Given the description of an element on the screen output the (x, y) to click on. 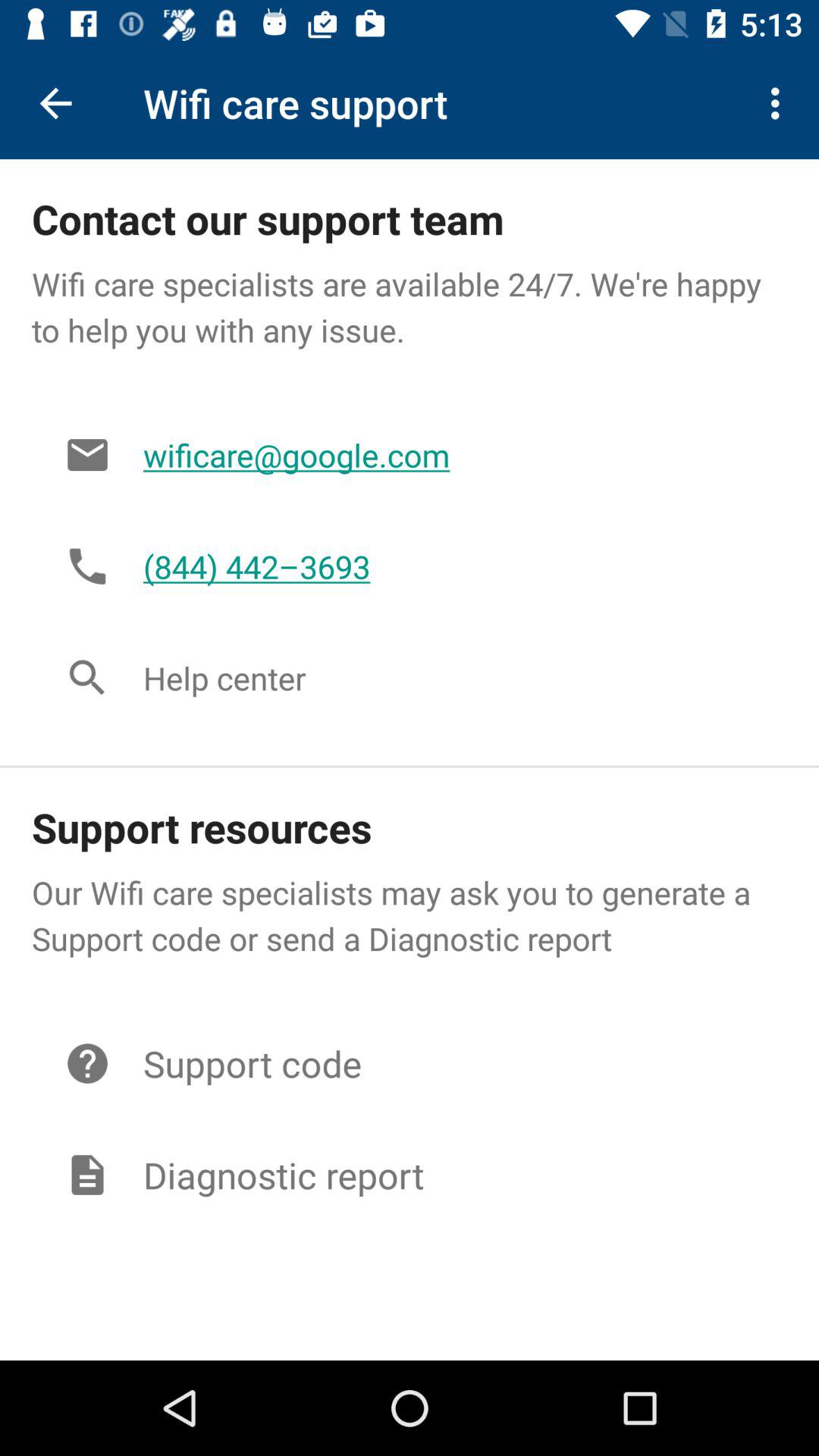
select the icon above the contact our support item (55, 103)
